Given the description of an element on the screen output the (x, y) to click on. 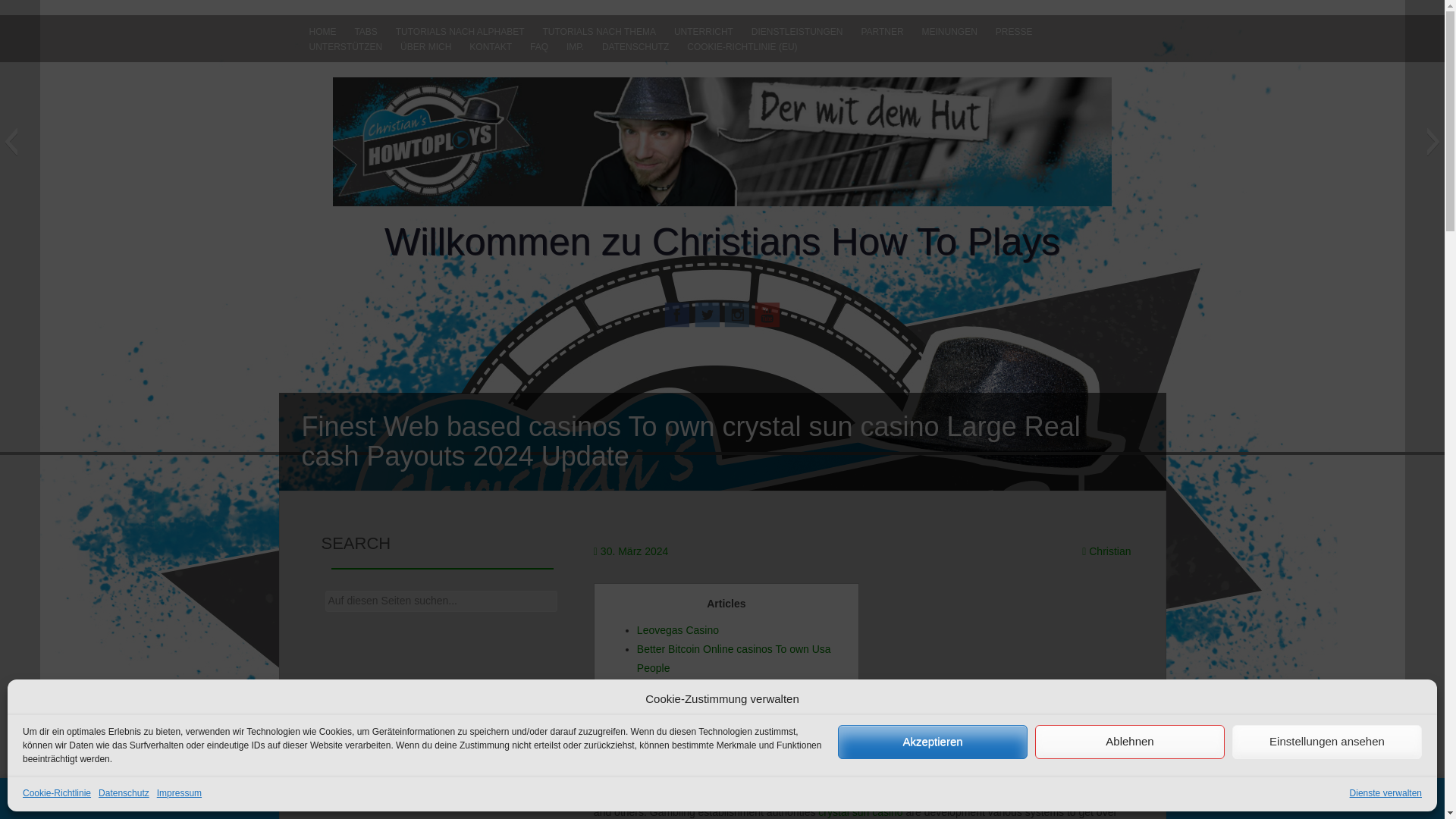
PARTNER (882, 31)
DIENSTLEISTUNGEN (797, 31)
Datenschutz (124, 793)
FAQ (539, 46)
MEINUNGEN (949, 31)
DATENSCHUTZ (635, 46)
Impressum (179, 793)
TUTORIALS NACH ALPHABET (460, 31)
Facebook (676, 313)
IMP. (575, 46)
